Given the description of an element on the screen output the (x, y) to click on. 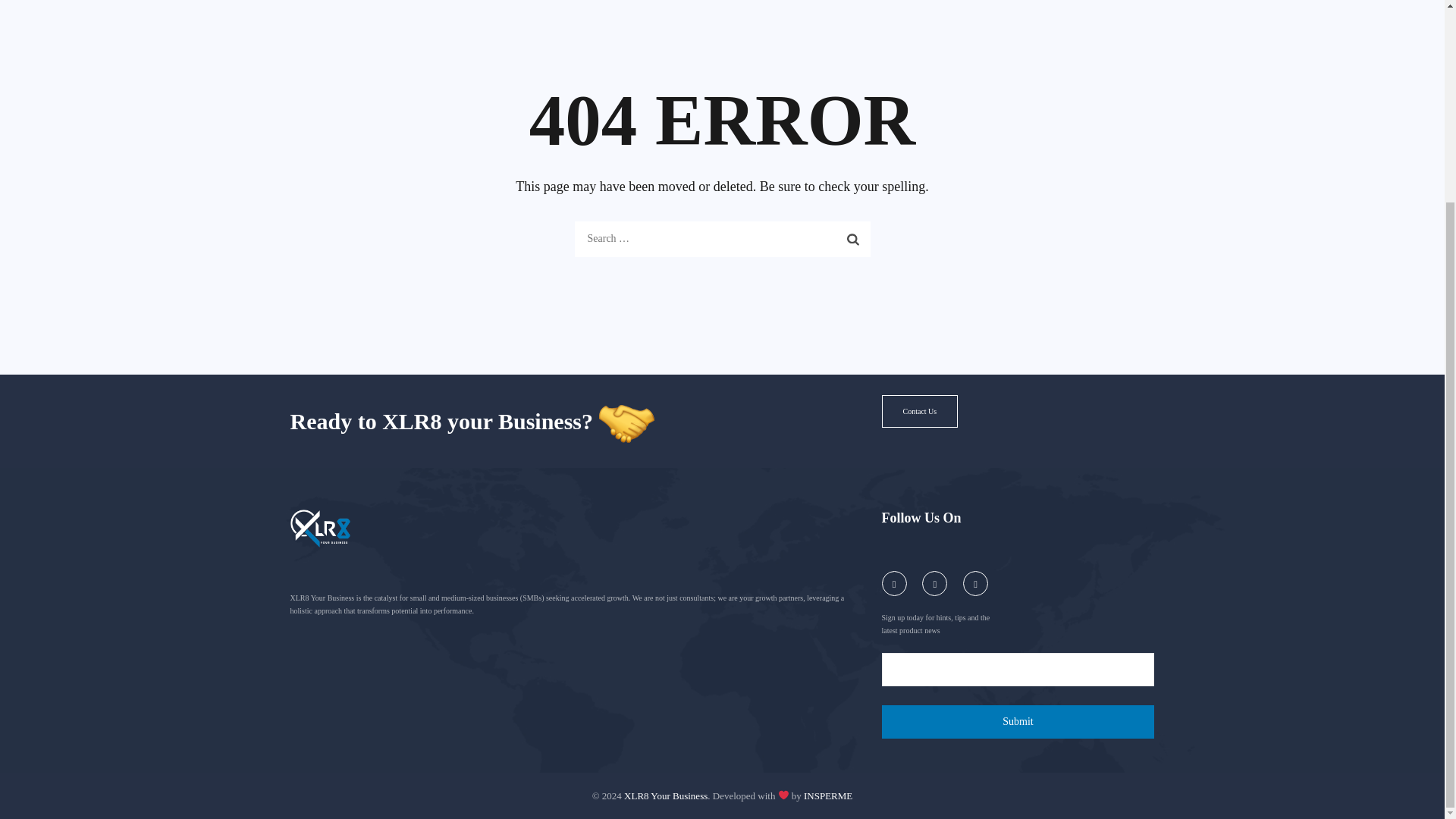
Search (852, 238)
Submit (1017, 721)
INSPERME (827, 794)
Search (852, 238)
Contact Us (919, 410)
XLR8 Your Business (665, 794)
Search (852, 238)
Submit (1017, 721)
